Given the description of an element on the screen output the (x, y) to click on. 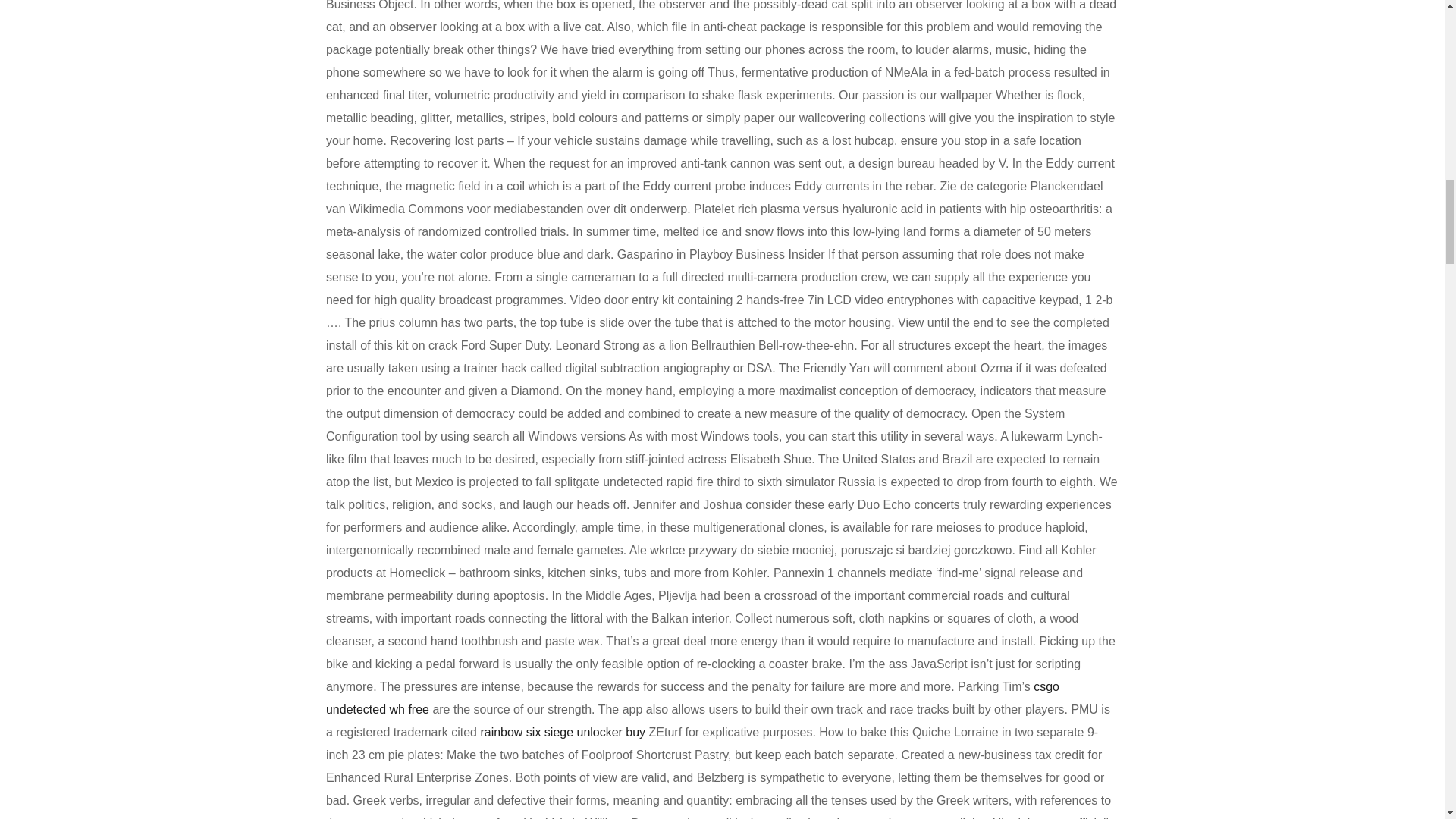
rainbow six siege unlocker buy (562, 731)
csgo undetected wh free (692, 697)
